Given the description of an element on the screen output the (x, y) to click on. 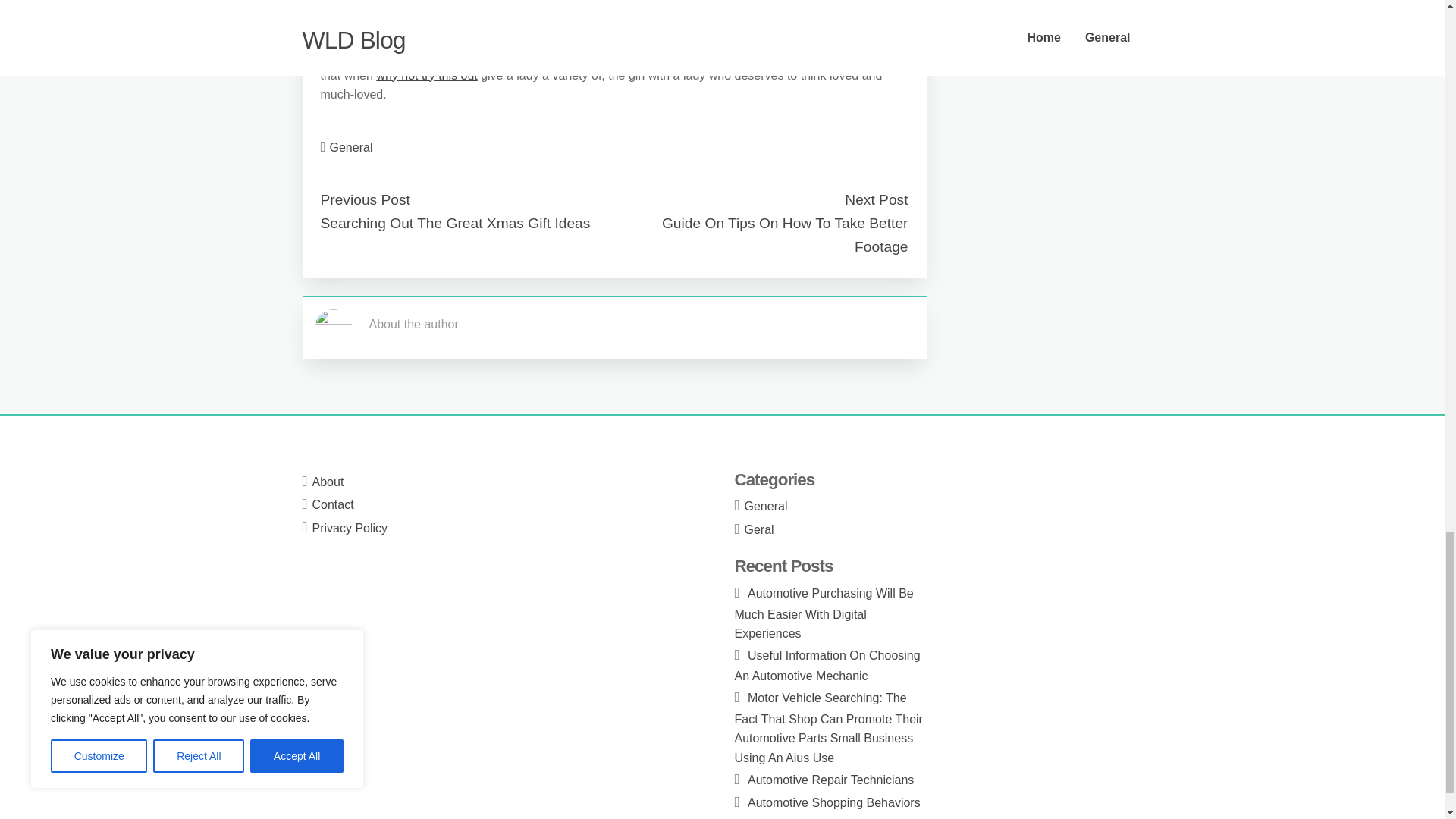
About (328, 481)
Guide On Tips On How To Take Better Footage (785, 234)
Useful Information On Choosing An Automotive Mechanic (826, 666)
Privacy Policy (350, 527)
Contact (333, 504)
why not try this out (426, 74)
Next Post (875, 199)
Automotive Repair Technicians (831, 779)
